Given the description of an element on the screen output the (x, y) to click on. 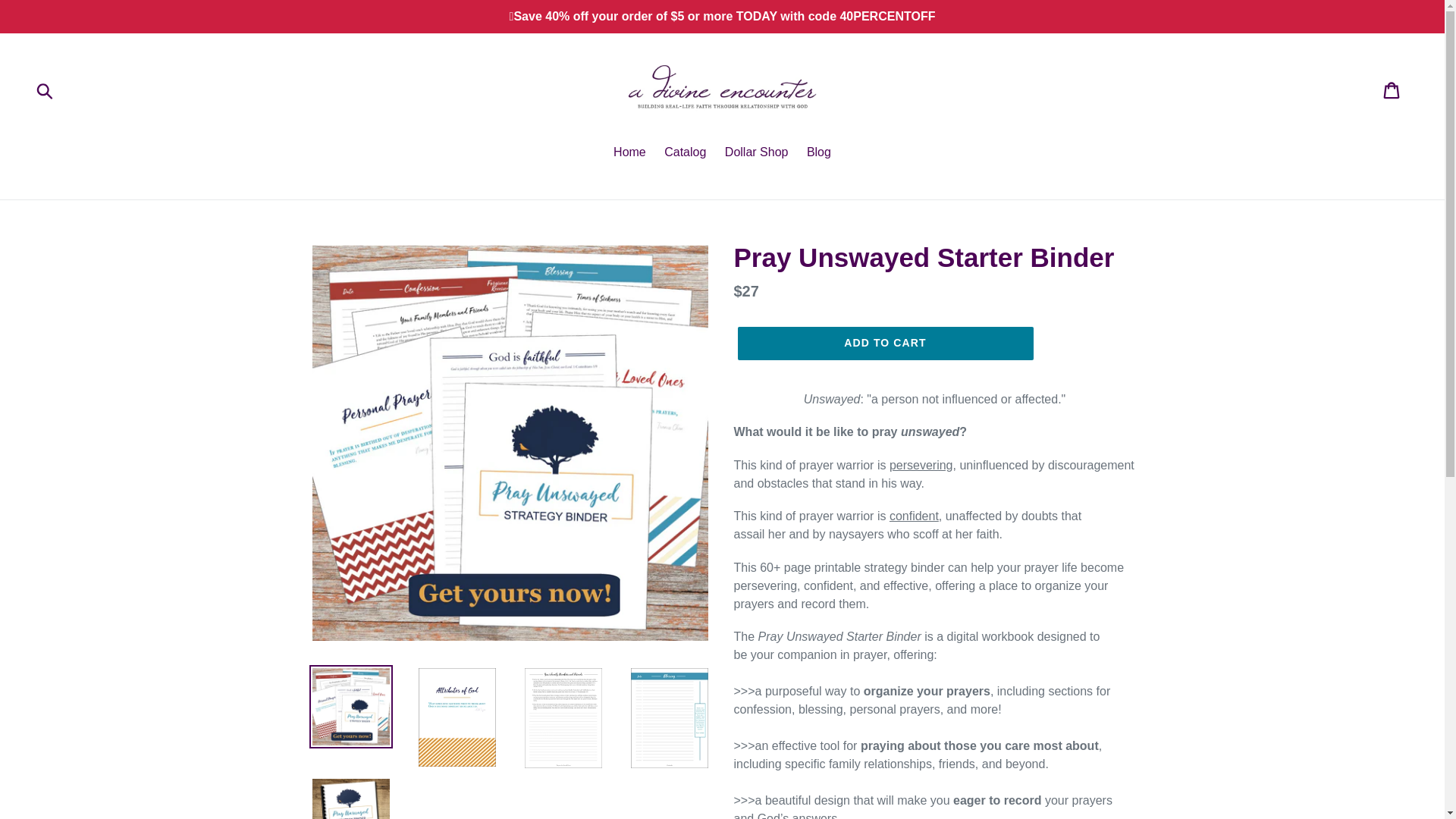
Submit (45, 90)
Home (629, 153)
Catalog (684, 153)
ADD TO CART (884, 343)
Cart (1392, 90)
Dollar Shop (756, 153)
Blog (818, 153)
